Given the description of an element on the screen output the (x, y) to click on. 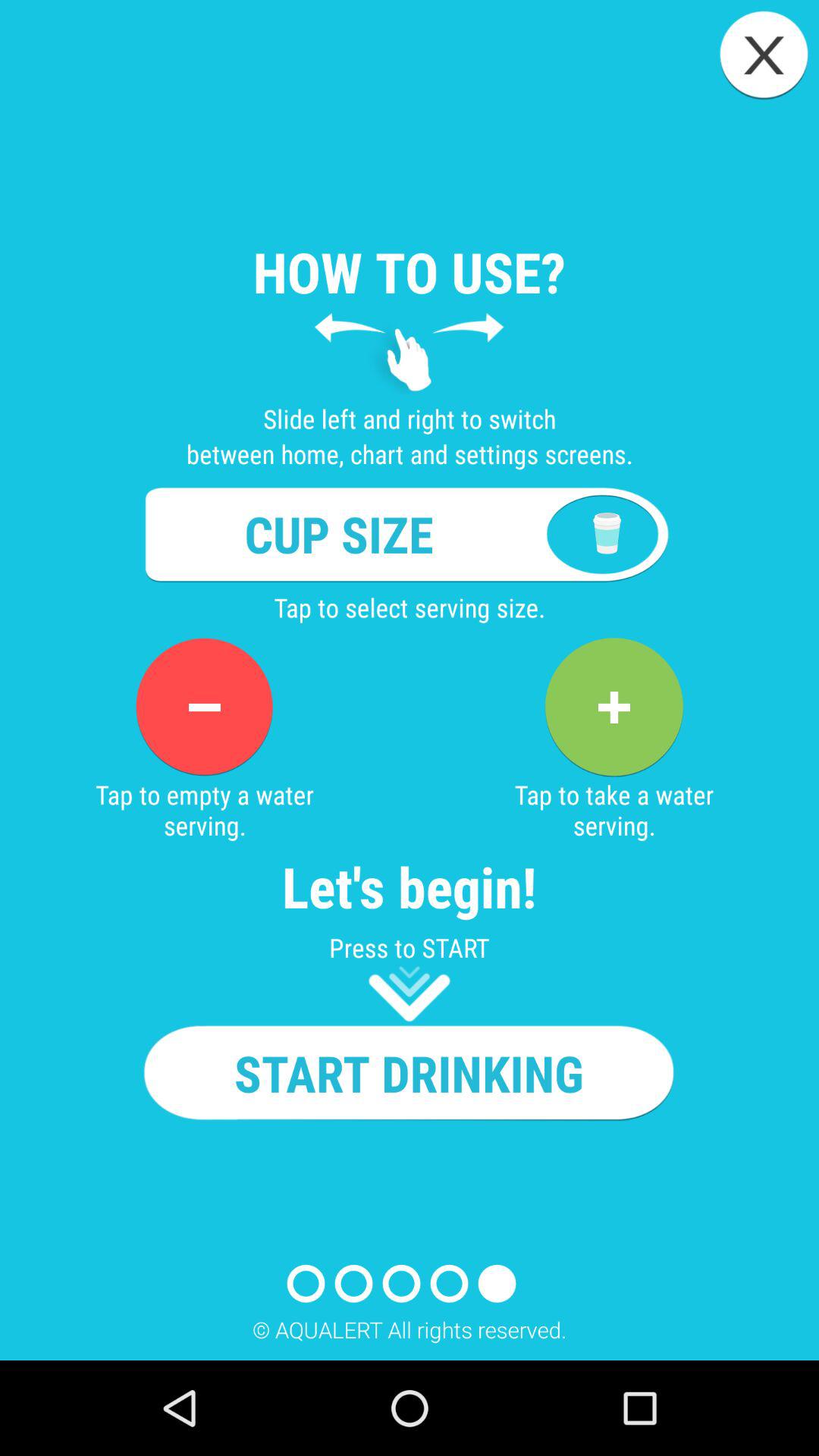
select the app to the left of tap to take icon (204, 706)
